Given the description of an element on the screen output the (x, y) to click on. 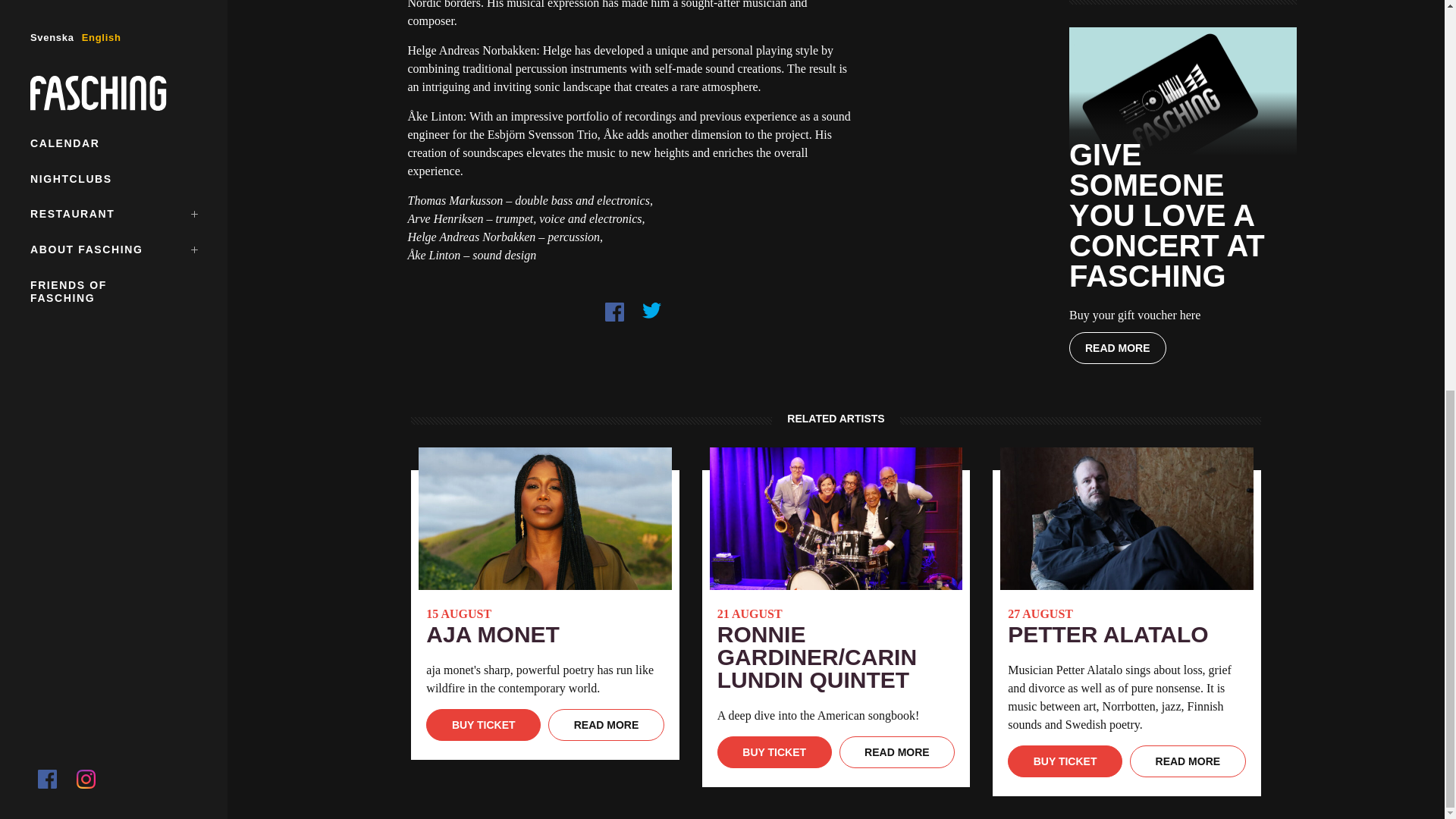
READ MORE (1117, 347)
BUY TICKET (774, 752)
READ MORE (605, 725)
BUY TICKET (483, 725)
